Given the description of an element on the screen output the (x, y) to click on. 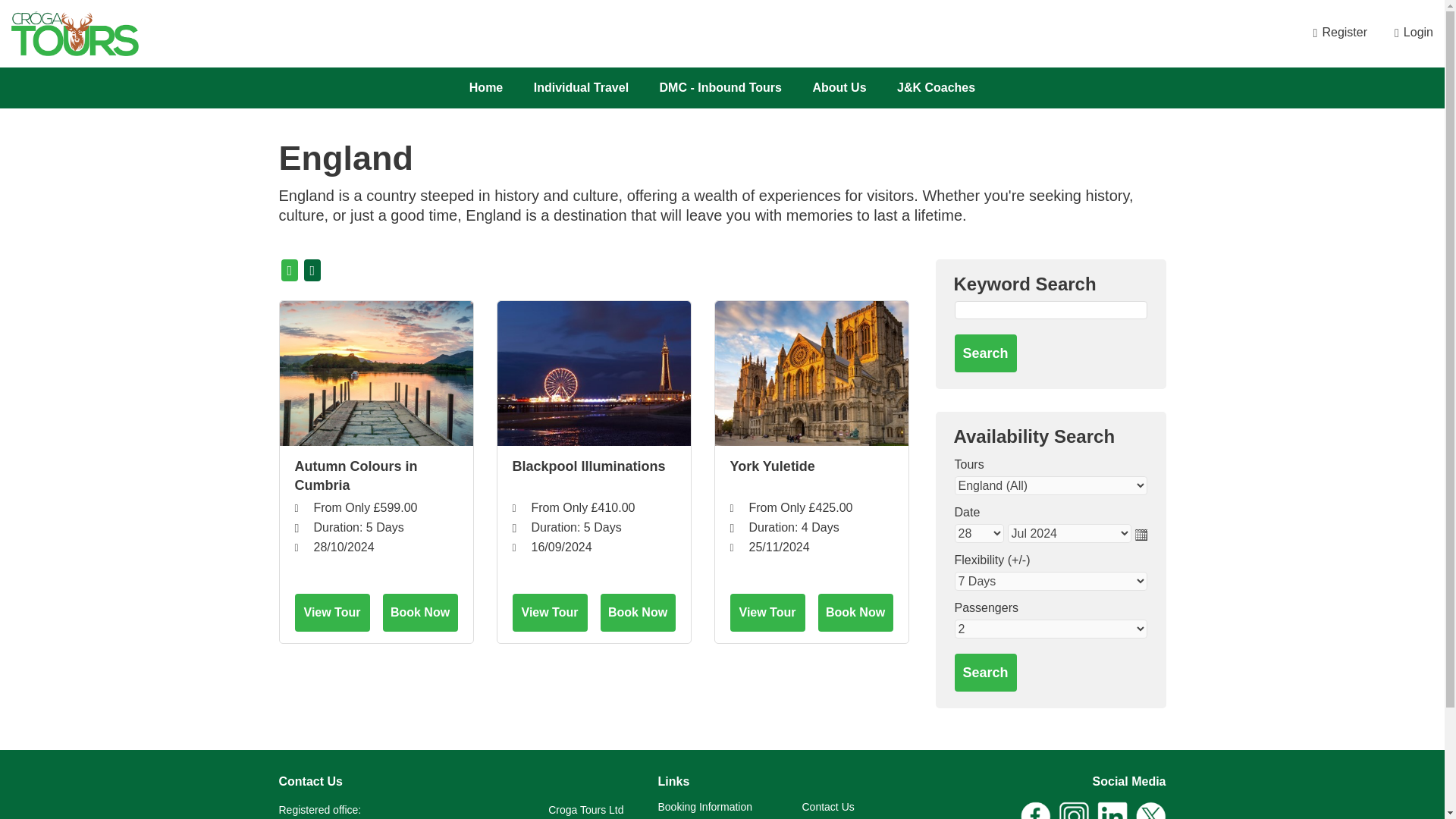
Search (984, 672)
Autumn Colours in Cumbria (375, 476)
DMC - Inbound Tours (720, 87)
Individual Travel (580, 87)
York Yuletide (810, 373)
Home (485, 87)
Search (984, 353)
Blackpool Illuminations (593, 476)
Autumn Colours in Cumbria (375, 373)
Booking Information (705, 806)
Blackpool Illuminations (593, 373)
Search (984, 672)
York Yuletide (810, 476)
Search (984, 353)
Register (1338, 32)
